Given the description of an element on the screen output the (x, y) to click on. 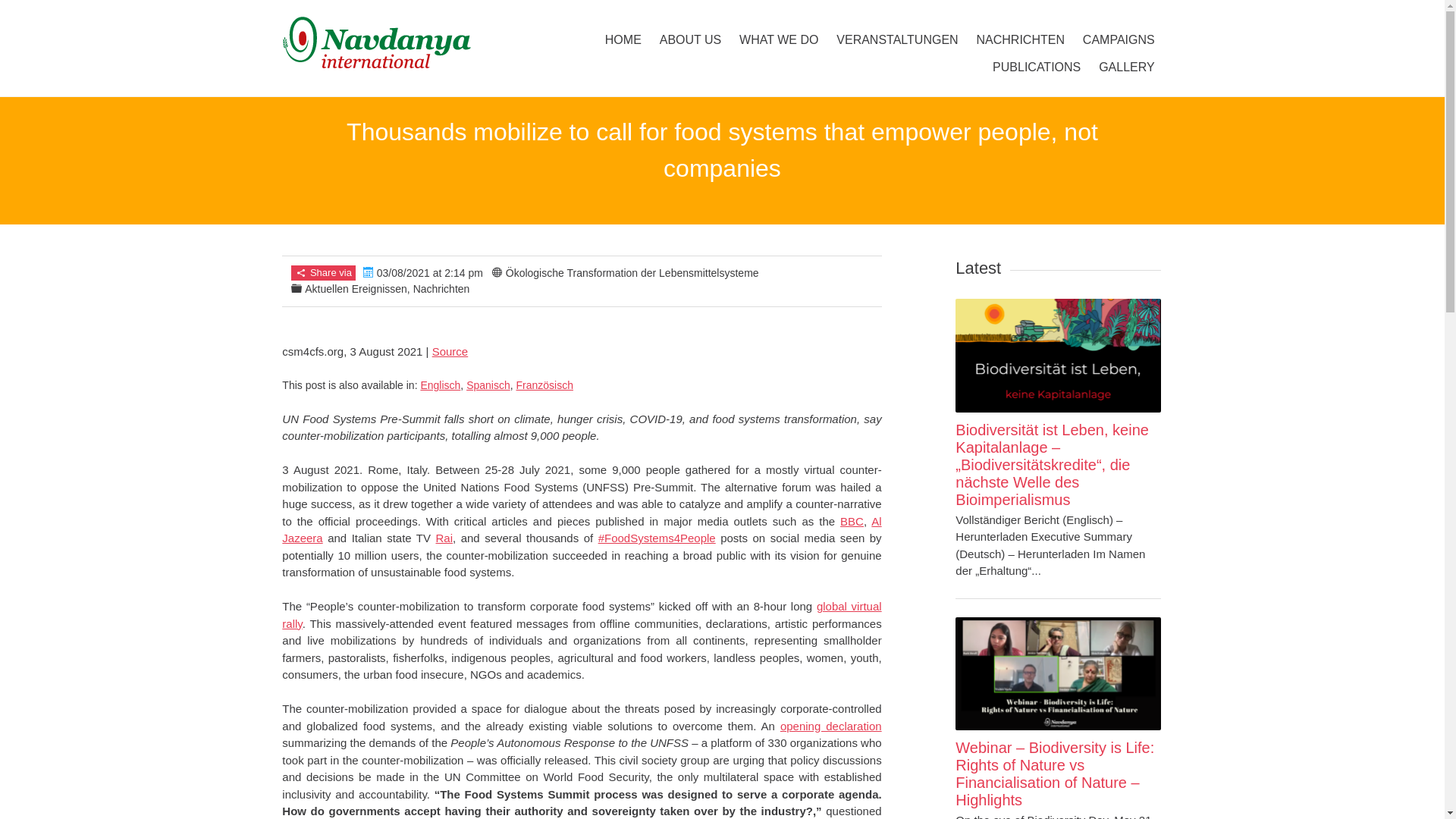
Search (1074, 15)
Deutsch (367, 14)
Twitter (952, 15)
Facebook (922, 15)
Instagram (983, 15)
Search (21, 12)
WHAT WE DO (778, 40)
Join Us (307, 14)
ABOUT US (690, 40)
HOME (622, 40)
